Given the description of an element on the screen output the (x, y) to click on. 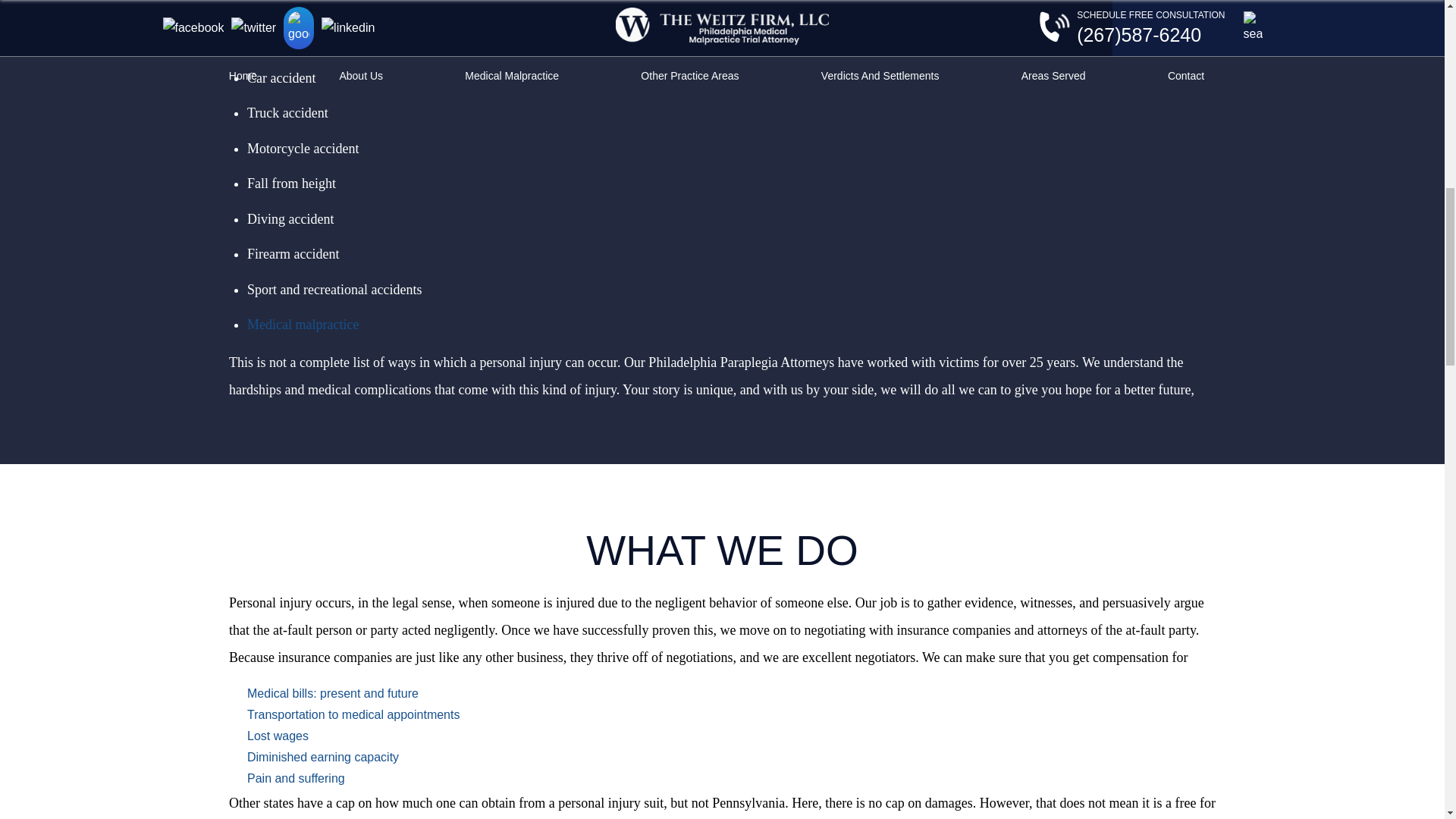
Medical malpractice (302, 324)
